Given the description of an element on the screen output the (x, y) to click on. 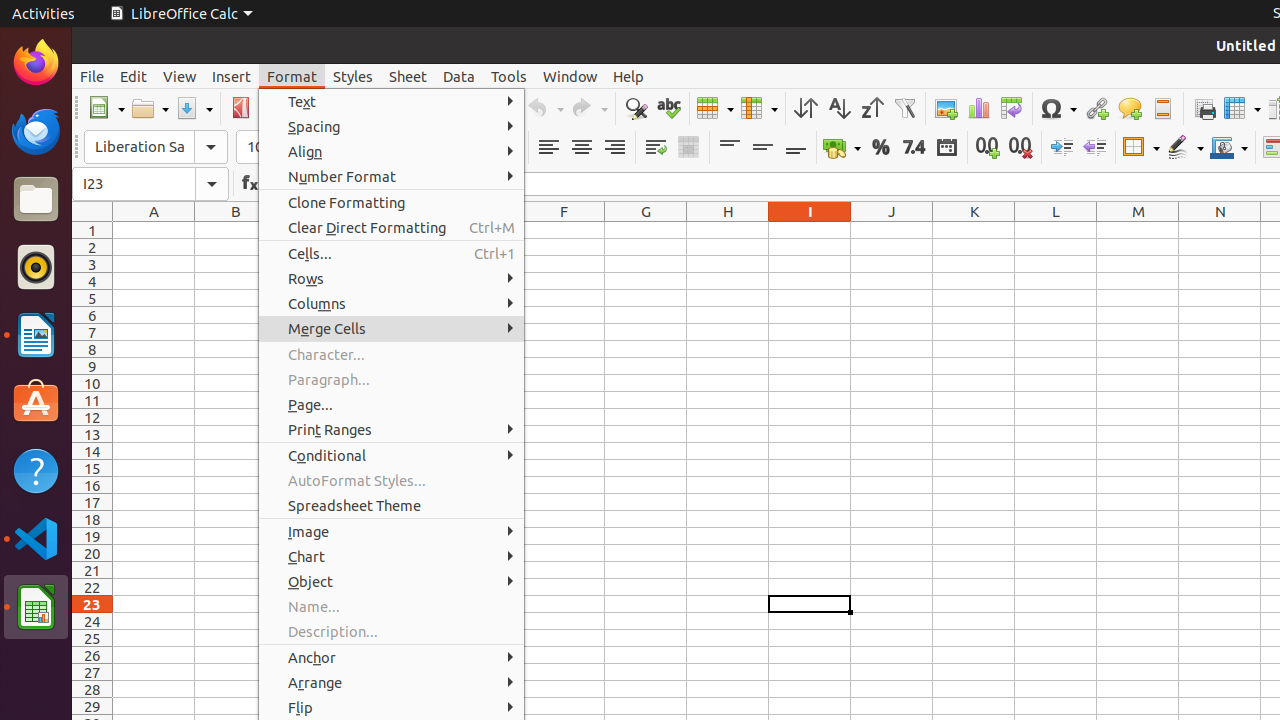
Flip Element type: menu (391, 707)
Symbol Element type: push-button (1058, 108)
PDF Element type: push-button (240, 108)
Font Name Element type: text (139, 147)
Merge Cells Element type: menu (391, 328)
